Given the description of an element on the screen output the (x, y) to click on. 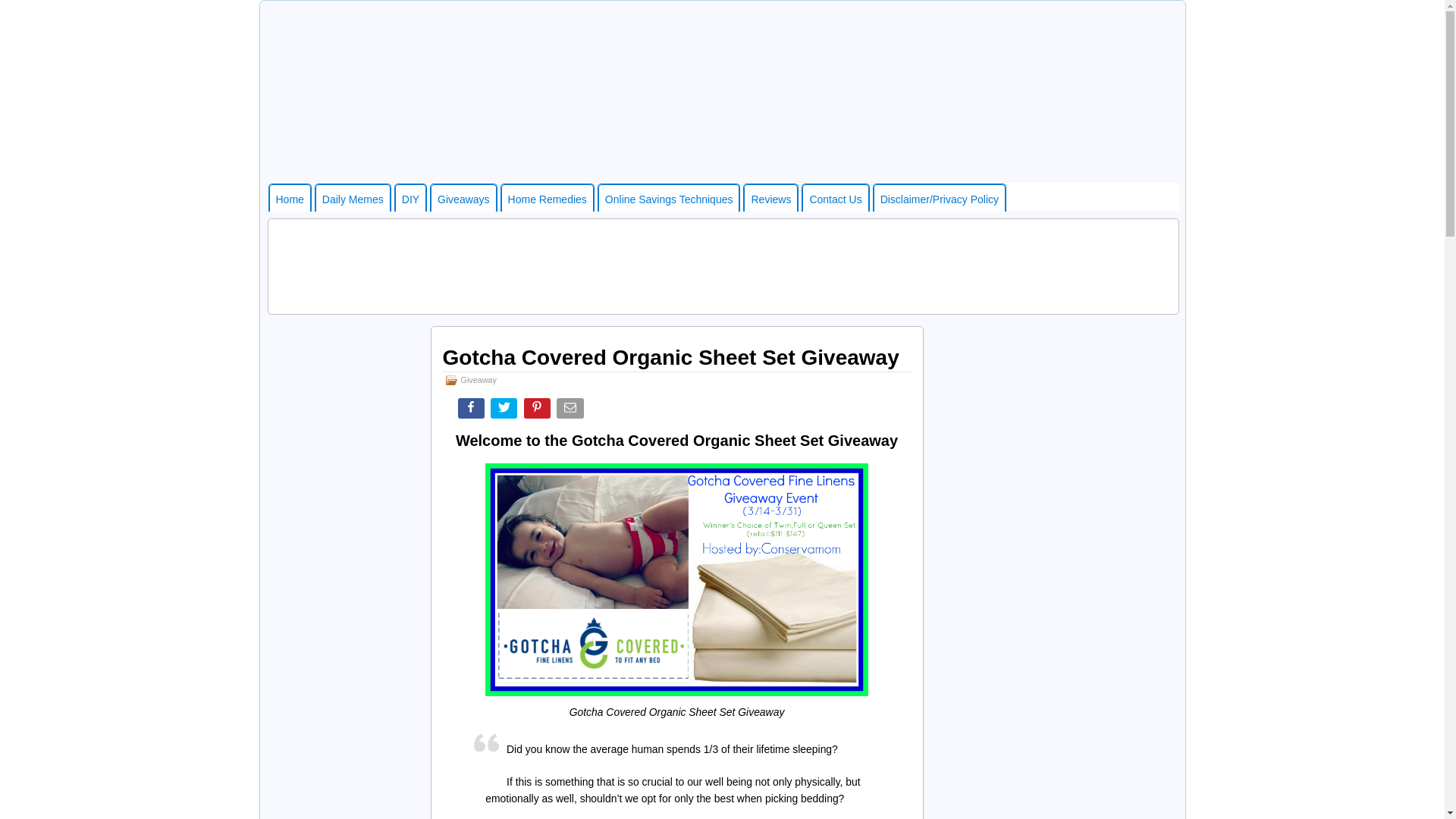
Giveaways (463, 197)
Online Savings Techniques (668, 197)
Giveaway (478, 379)
Pin (538, 411)
Share on Facebook (472, 411)
Reviews (770, 197)
Tweet (504, 411)
Gotcha Covered Organic Sheet Set Giveaway (675, 579)
cash back shopping (668, 197)
Email (571, 411)
Gotcha Covered Organic Sheet Set Giveaway (670, 357)
DIY (410, 197)
Gotcha Covered Organic Sheet Set Giveaway (670, 357)
Contact Us (834, 197)
Home (288, 197)
